Given the description of an element on the screen output the (x, y) to click on. 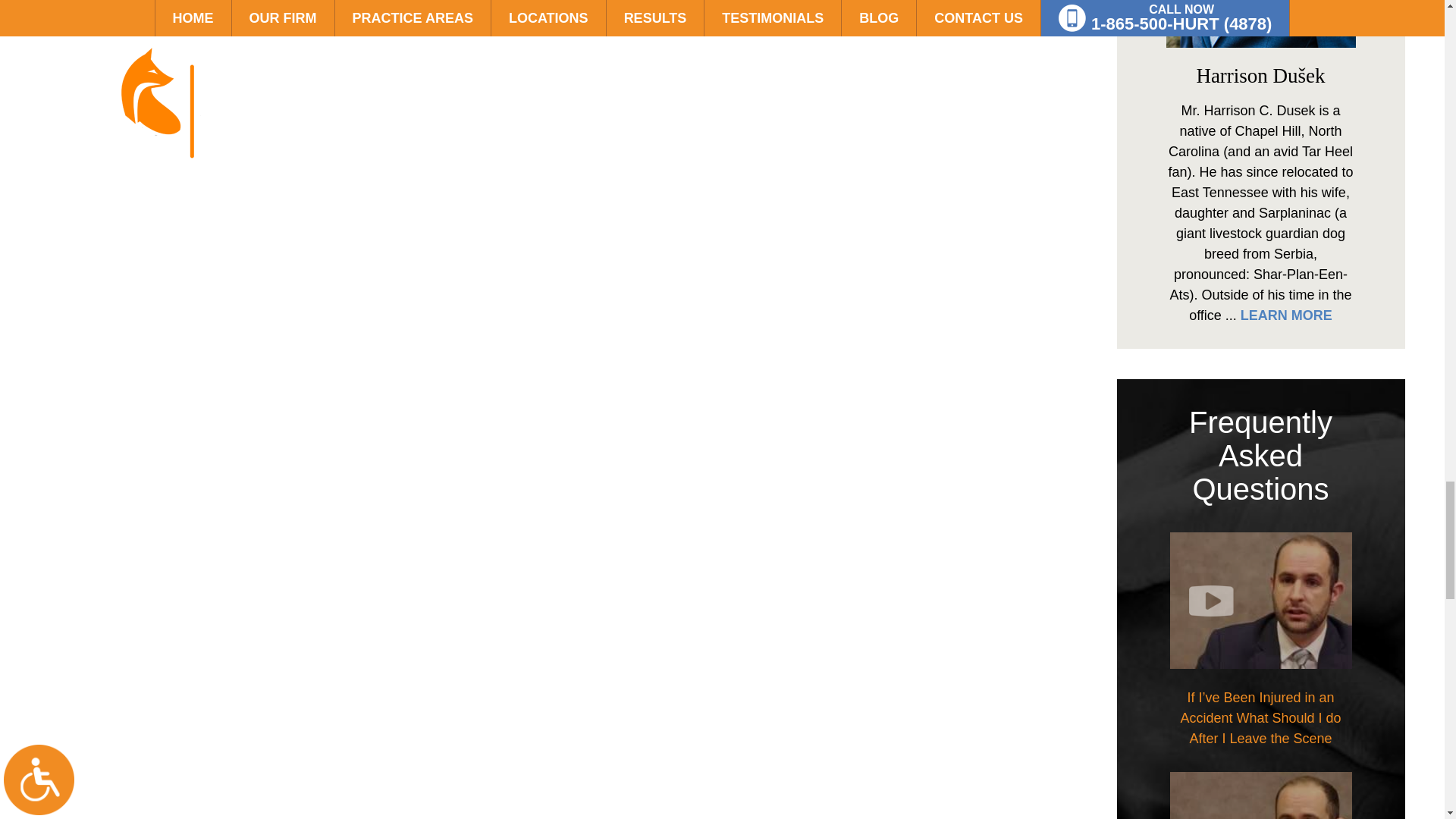
Tennessee Personal Injury FAQ 2 (1260, 795)
Tennessee Personal Injury FAQ 1 (1260, 600)
FAQS Play Button (1233, 600)
